Given the description of an element on the screen output the (x, y) to click on. 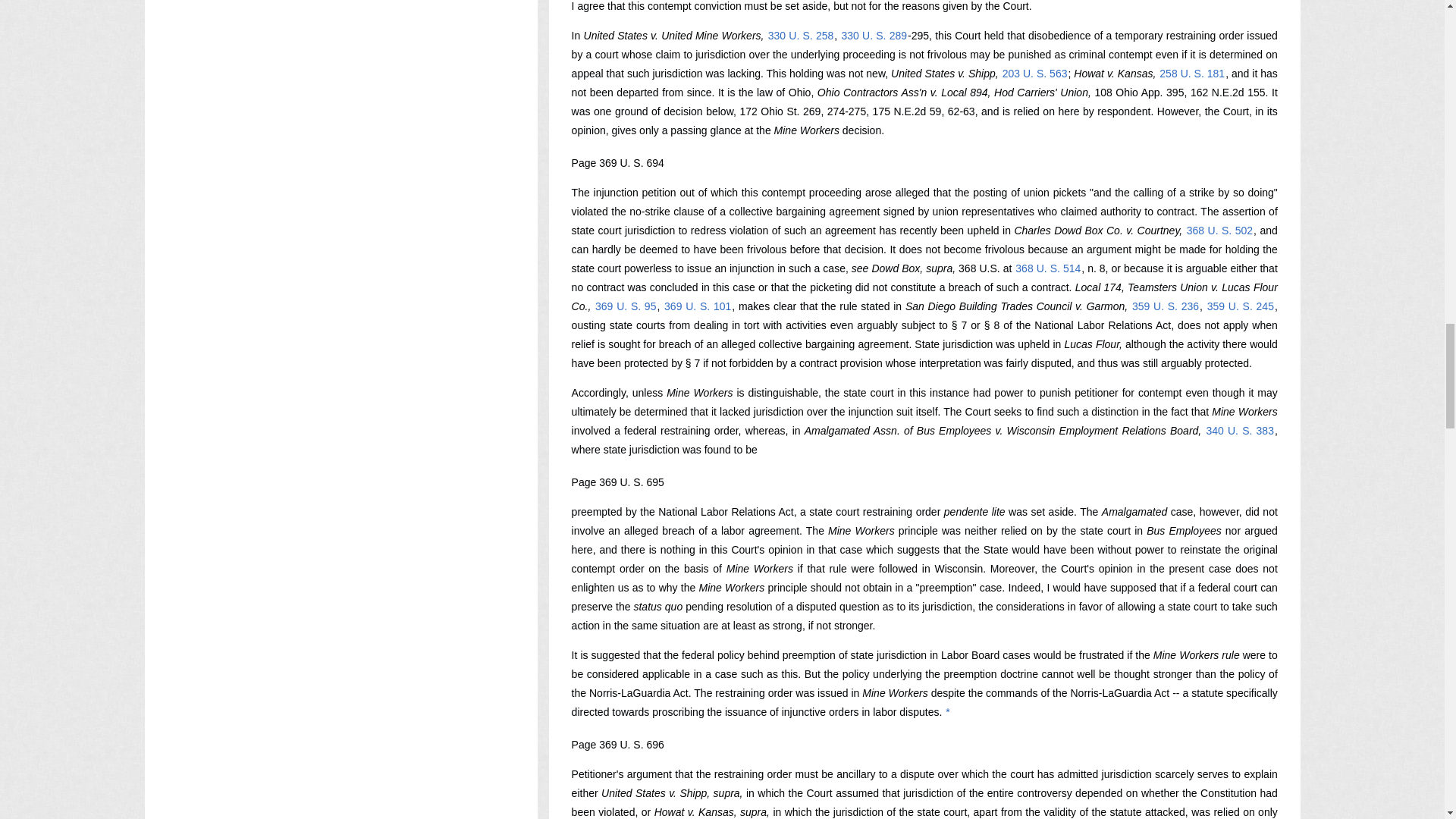
Page 369 U. S. 694 (617, 162)
368 U. S. 514 (1047, 268)
330 U. S. 258 (800, 35)
330 U. S. 289 (873, 35)
203 U. S. 563 (1034, 73)
369 U. S. 95 (625, 306)
